Given the description of an element on the screen output the (x, y) to click on. 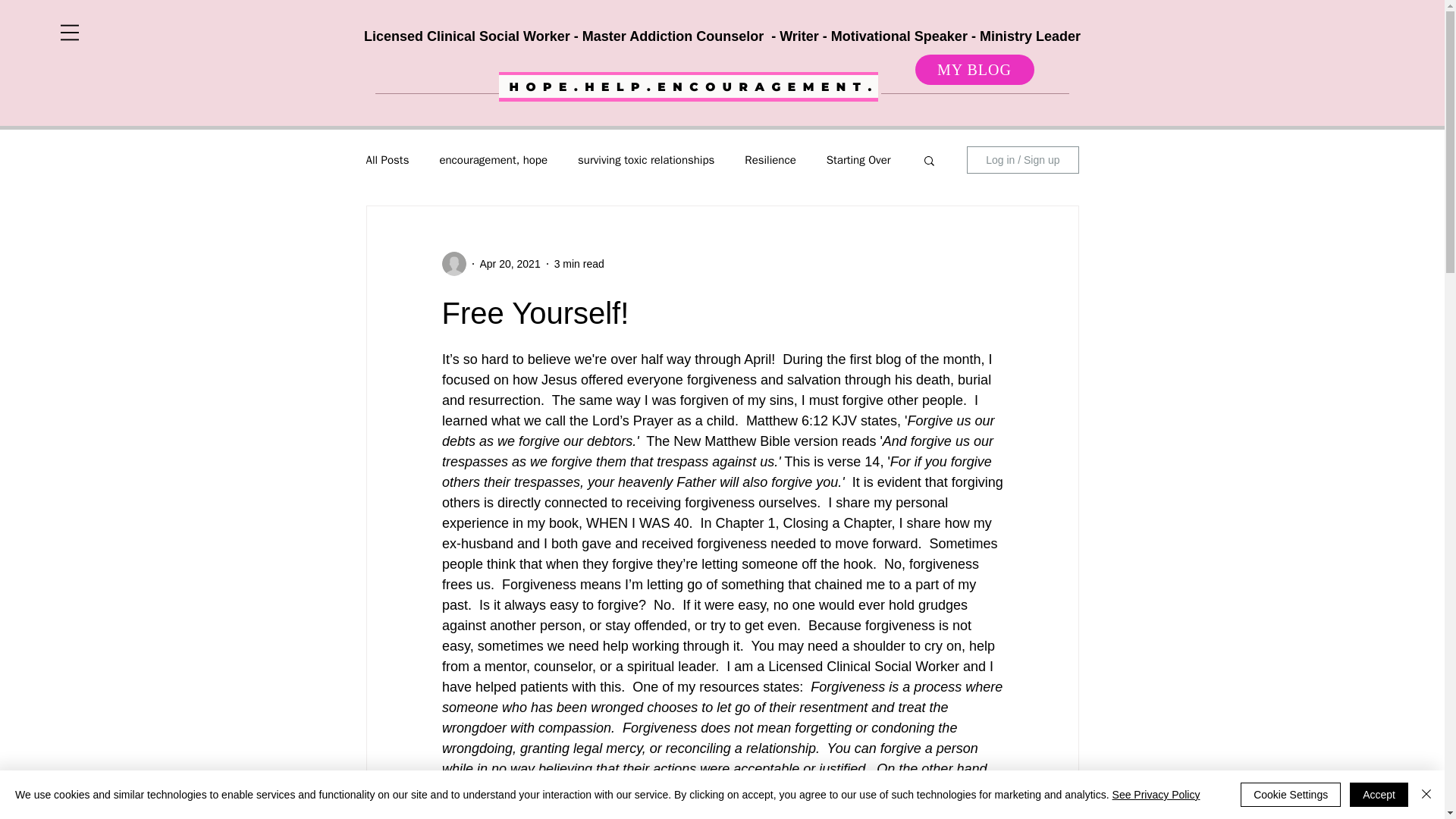
Accept (1378, 794)
Resilience (769, 160)
3 min read (579, 263)
Cookie Settings (1290, 794)
Starting Over (859, 160)
See Privacy Policy (1155, 794)
Apr 20, 2021 (509, 263)
encouragement, hope (493, 160)
MY BLOG (973, 69)
All Posts (387, 160)
surviving toxic relationships (646, 160)
